Given the description of an element on the screen output the (x, y) to click on. 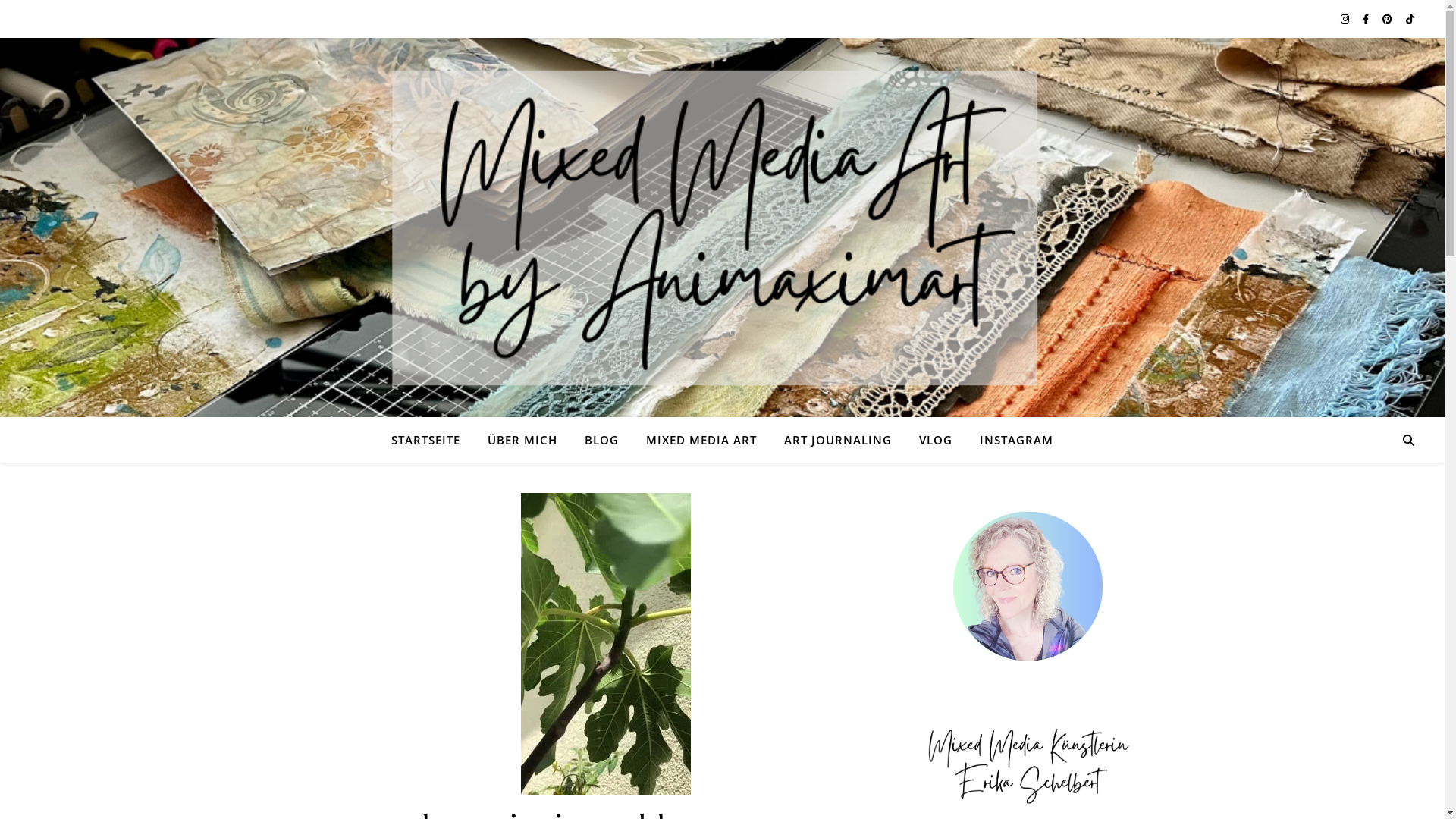
VLOG Element type: text (935, 439)
ART JOURNALING Element type: text (837, 439)
STARTSEITE Element type: text (431, 439)
MIXED MEDIA ART Element type: text (700, 439)
BLOG Element type: text (601, 439)
INSTAGRAM Element type: text (1010, 439)
